Given the description of an element on the screen output the (x, y) to click on. 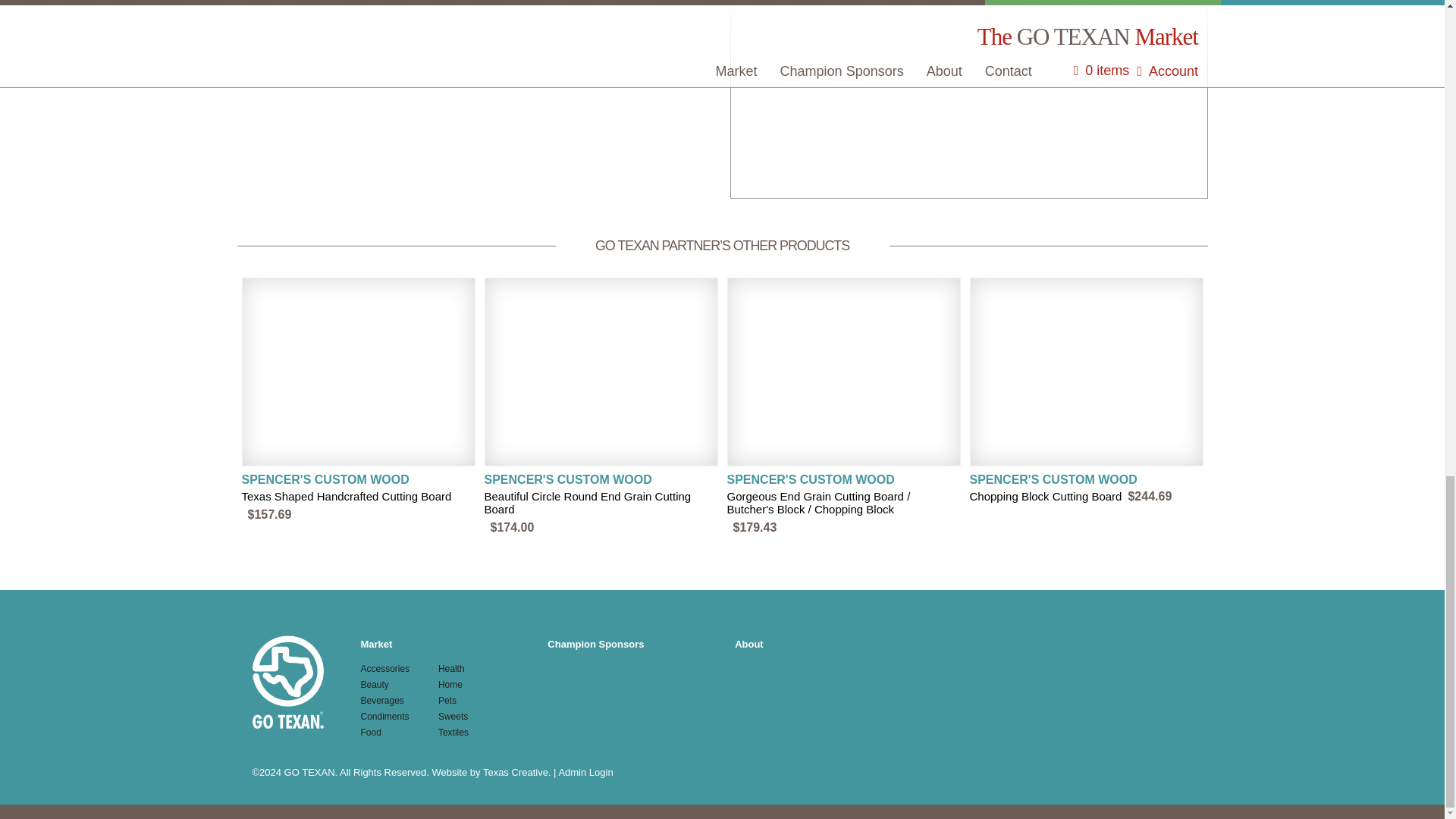
view (842, 407)
Chopping Block Cutting Board (1045, 495)
Accessories (385, 668)
Beautiful Circle Round End Grain Cutting Board (586, 502)
Beauty (374, 684)
Texas Shaped Handcrafted Cutting Board (346, 495)
Market (377, 644)
view (600, 407)
view (1085, 391)
view (357, 400)
